Given the description of an element on the screen output the (x, y) to click on. 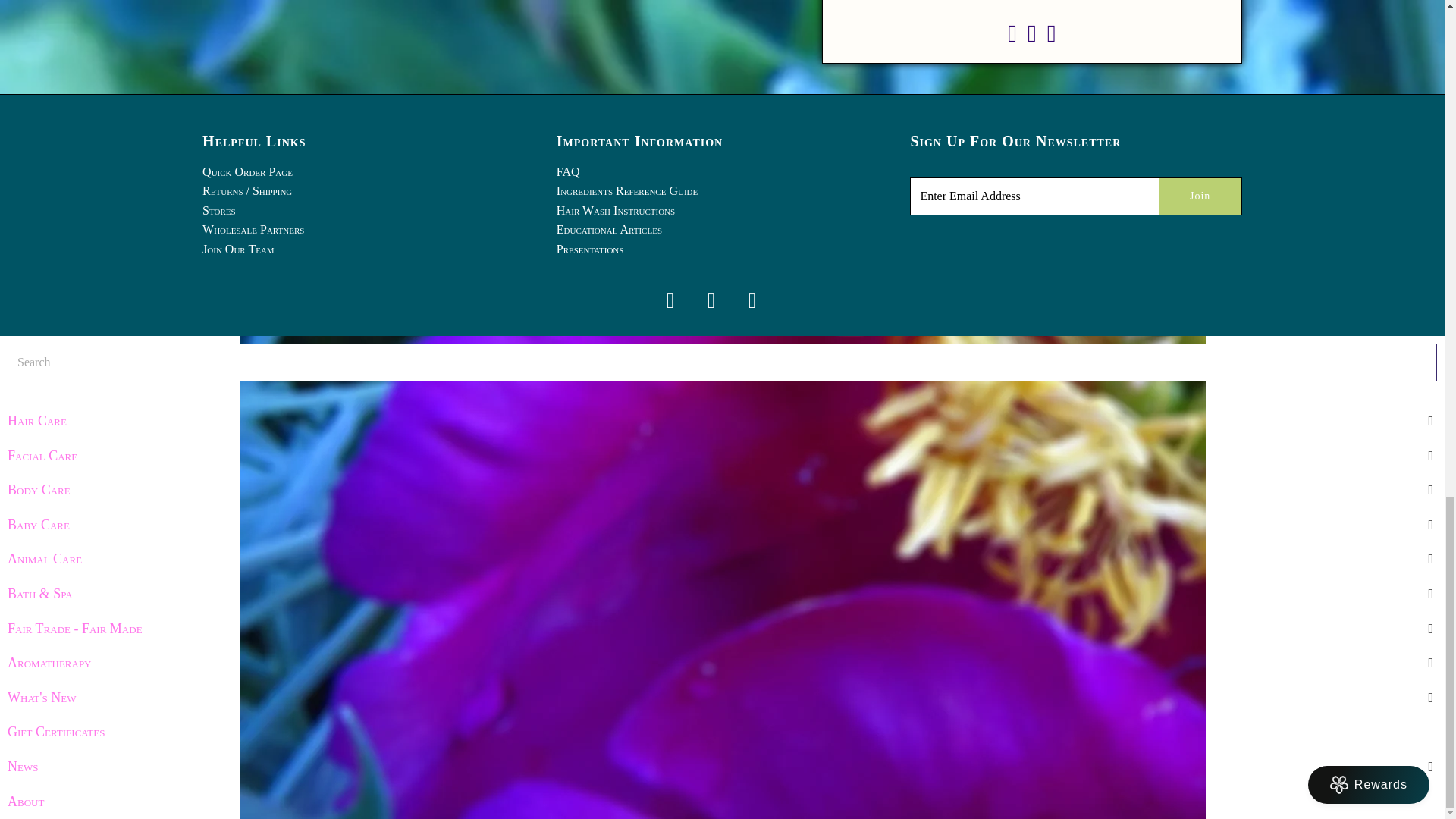
Share on Facebook (1011, 37)
Share on Pinterest (1051, 37)
Join (1199, 196)
Share on Twitter (1031, 37)
